Given the description of an element on the screen output the (x, y) to click on. 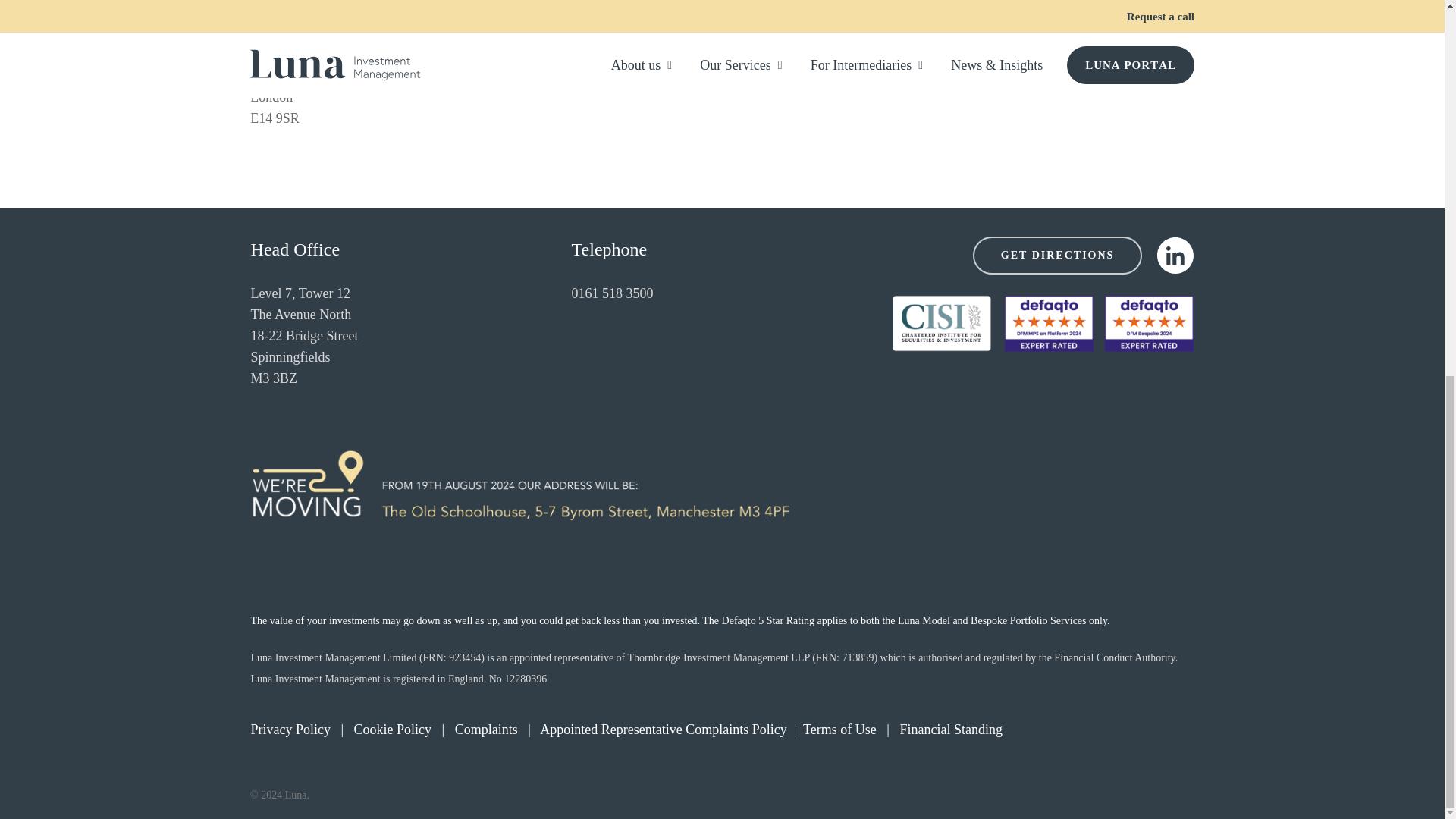
GET DIRECTIONS (1057, 255)
Appointed Representative Complaints Policy (663, 729)
Financial Standing (950, 729)
Cookie Policy (392, 729)
Complaints (486, 729)
Terms of Use (839, 729)
Privacy Policy (290, 729)
